Given the description of an element on the screen output the (x, y) to click on. 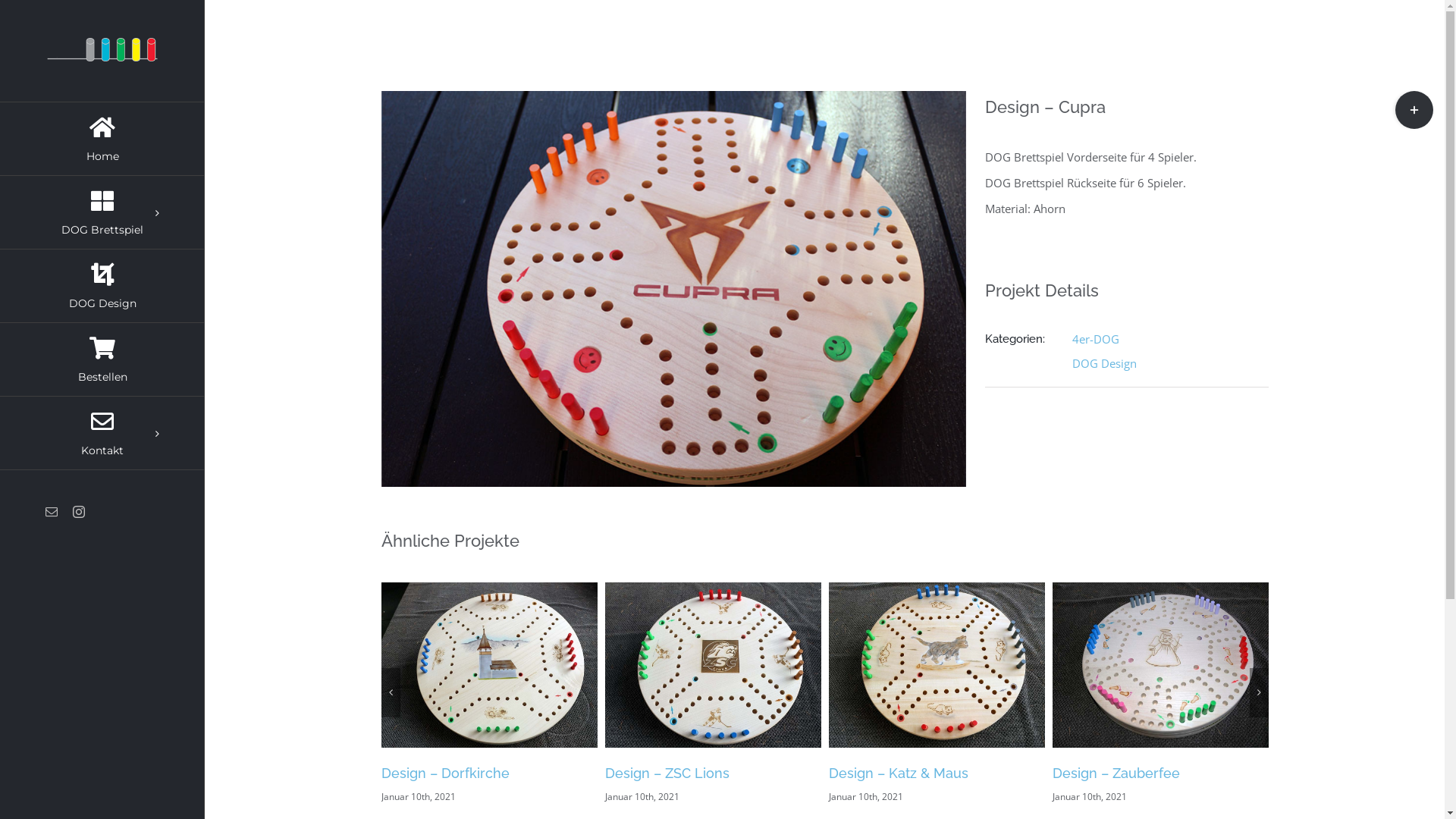
Kontakt Element type: text (102, 433)
DOG Brettspiel Element type: text (102, 212)
Home Element type: text (102, 138)
DOG Design Element type: text (102, 286)
E-Mail Element type: text (51, 511)
DOG Design Element type: text (1104, 362)
Bestellen Element type: text (102, 359)
Toggle Sliding Bar Area Element type: text (1414, 109)
4er-DOG Element type: text (1095, 338)
View Larger Image Element type: text (673, 288)
Instagram Element type: text (78, 511)
